Given the description of an element on the screen output the (x, y) to click on. 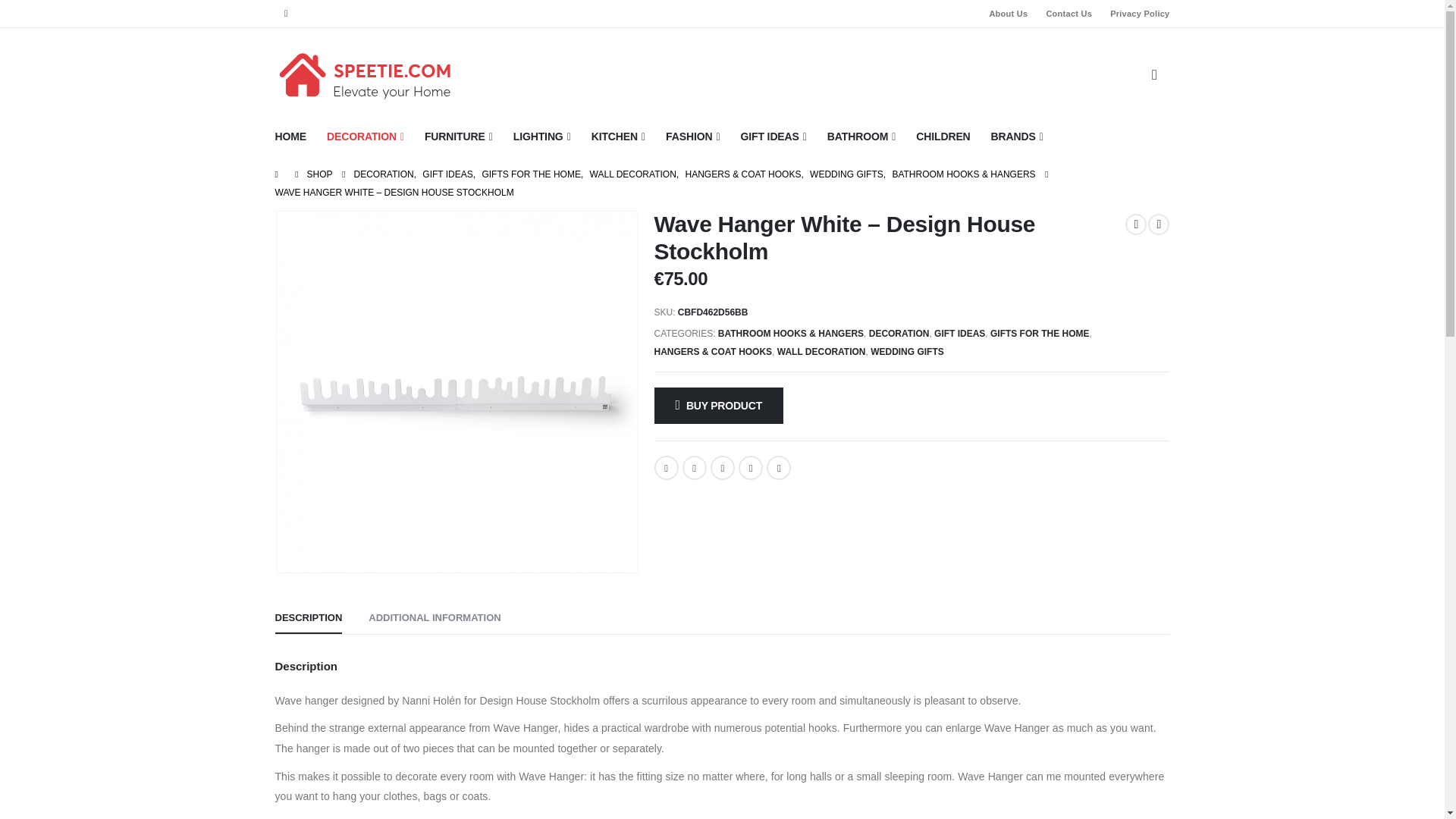
FURNITURE (458, 135)
Instagram (286, 13)
Privacy Policy (1134, 13)
Contact Us (1068, 13)
HOME (295, 135)
DECORATION (365, 135)
Speetie -  (366, 75)
About Us (1007, 13)
